Given the description of an element on the screen output the (x, y) to click on. 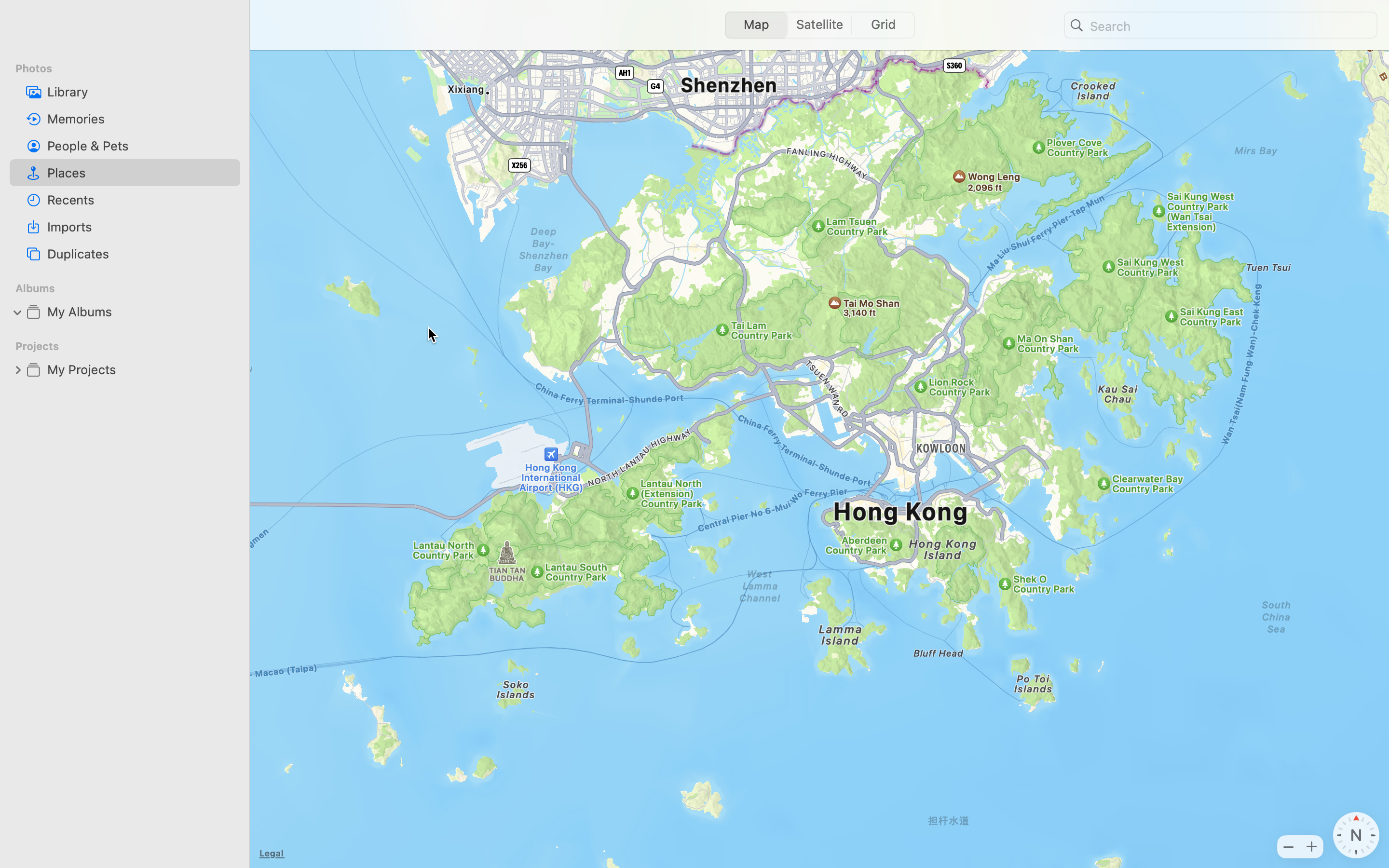
0 Element type: AXRadioButton (885, 24)
Memories Element type: AXStaticText (139, 118)
